Given the description of an element on the screen output the (x, y) to click on. 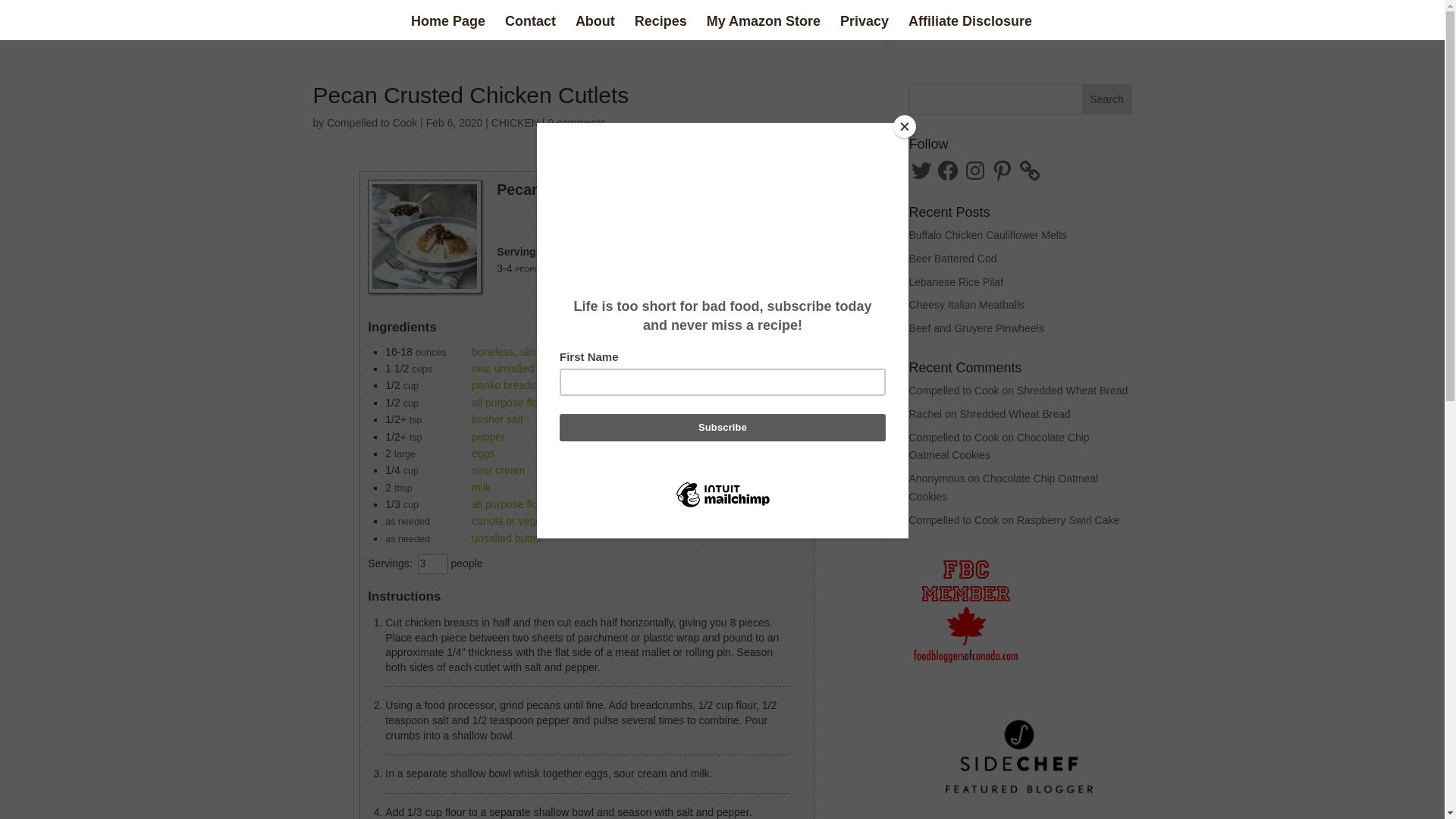
About (594, 27)
Posts by Compelled to Cook (371, 122)
pepper (488, 436)
Privacy (864, 27)
Compelled to Cook (371, 122)
Pecan Crusted Chicken Cutlets (424, 236)
eggs (483, 453)
Search (1106, 99)
raw, unsalted pecans (521, 368)
all purpose flour (509, 503)
boneless, skinless chicken breast (549, 351)
Affiliate Disclosure (970, 27)
panko breadcrumbs (518, 385)
My Amazon Store (763, 27)
canola or vegetable oil (524, 521)
